Given the description of an element on the screen output the (x, y) to click on. 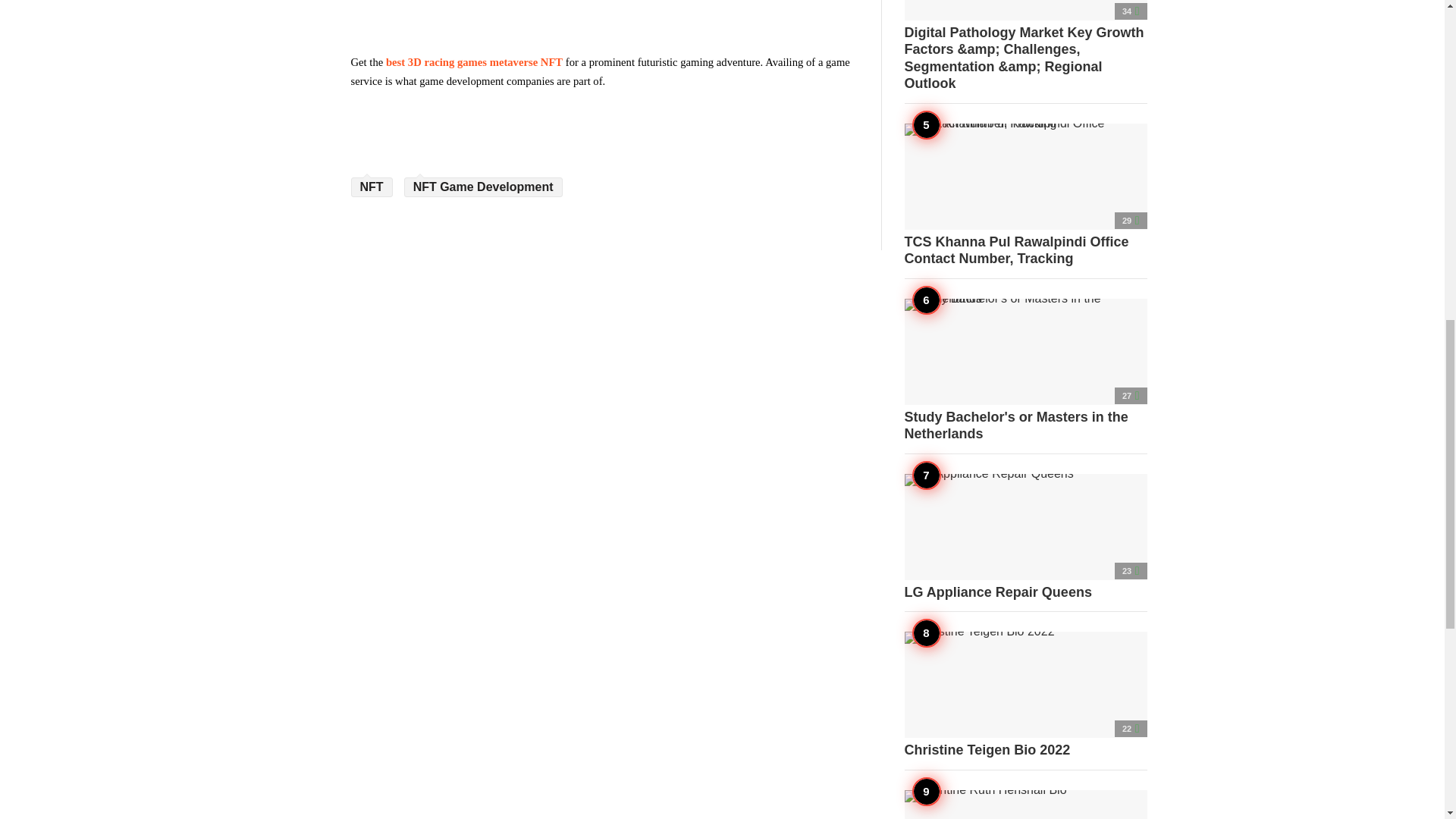
Valentine Ruth Henshall Bio (1025, 804)
LG Appliance Repair Queens (1025, 536)
Study Bachelor's or Masters in the Netherlands (1025, 370)
Christine Teigen  Bio 2022 (1025, 695)
TCS Khanna Pul Rawalpindi Office Contact Number, Tracking (1025, 194)
